Given the description of an element on the screen output the (x, y) to click on. 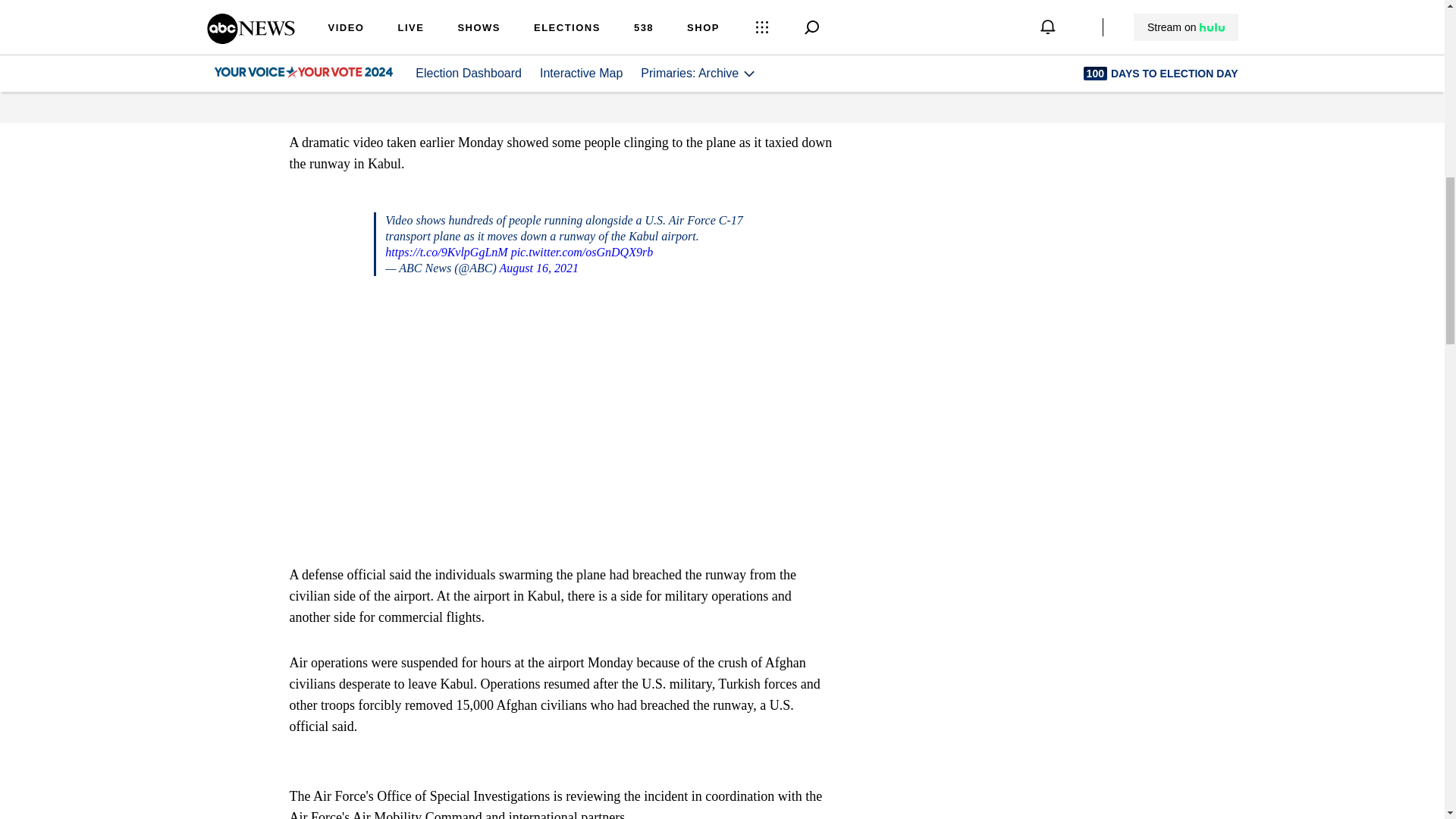
August 16, 2021 (538, 267)
